Given the description of an element on the screen output the (x, y) to click on. 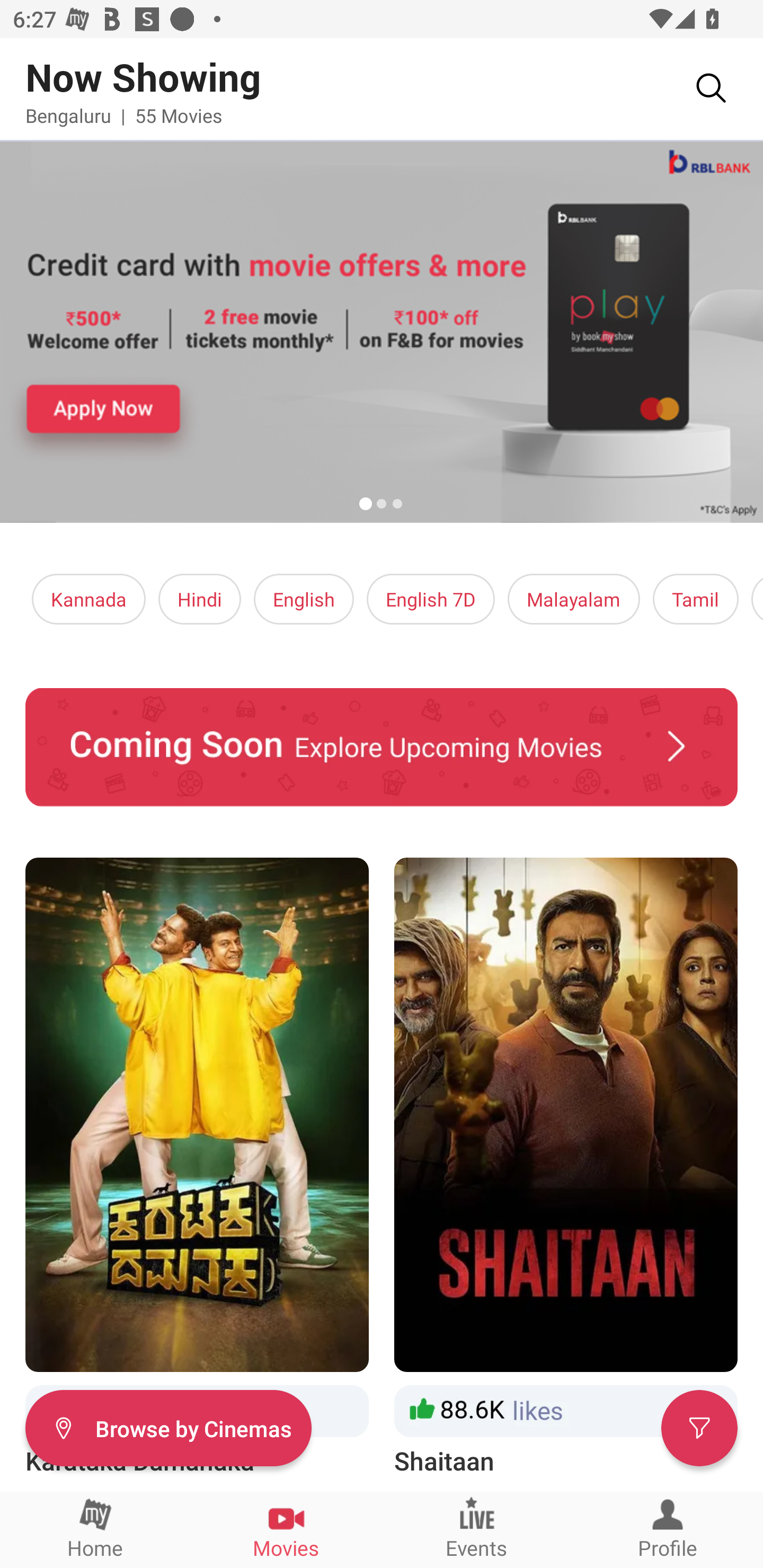
Bengaluru  |  55 Movies (123, 114)
Kannada (88, 598)
Hindi (199, 598)
English (304, 598)
English 7D (431, 598)
Malayalam (573, 598)
Tamil (695, 598)
Karataka Damanaka (196, 1167)
Shaitaan (565, 1167)
Filter Browse by Cinemas (168, 1427)
Filter (699, 1427)
Home (95, 1529)
Movies (285, 1529)
Events (476, 1529)
Profile (667, 1529)
